Given the description of an element on the screen output the (x, y) to click on. 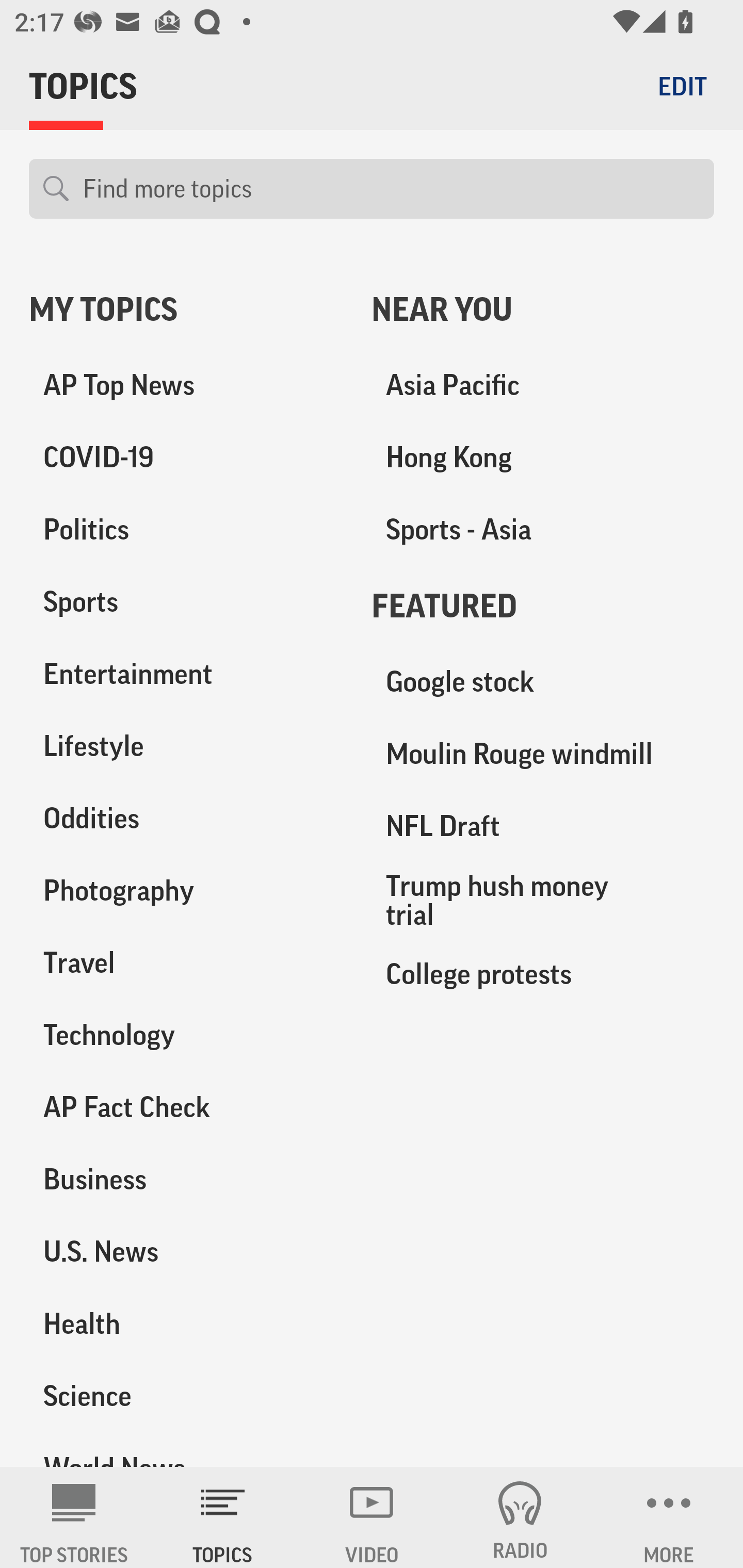
EDIT (682, 86)
Find more topics (391, 188)
AP Top News (185, 385)
Asia Pacific (542, 385)
COVID-19 (185, 457)
Hong Kong (542, 457)
Politics (185, 529)
Sports - Asia (542, 529)
Sports (185, 602)
Entertainment (185, 674)
Google stock (542, 682)
Lifestyle (185, 746)
Moulin Rouge windmill (542, 754)
Oddities (185, 818)
NFL Draft (542, 826)
Photography (185, 890)
Trump hush money trial (542, 899)
Travel (185, 962)
College protests (542, 973)
Technology (185, 1034)
AP Fact Check (185, 1106)
Business (185, 1179)
U.S. News (185, 1251)
Health (185, 1323)
Science (185, 1395)
AP News TOP STORIES (74, 1517)
TOPICS (222, 1517)
VIDEO (371, 1517)
RADIO (519, 1517)
MORE (668, 1517)
